Given the description of an element on the screen output the (x, y) to click on. 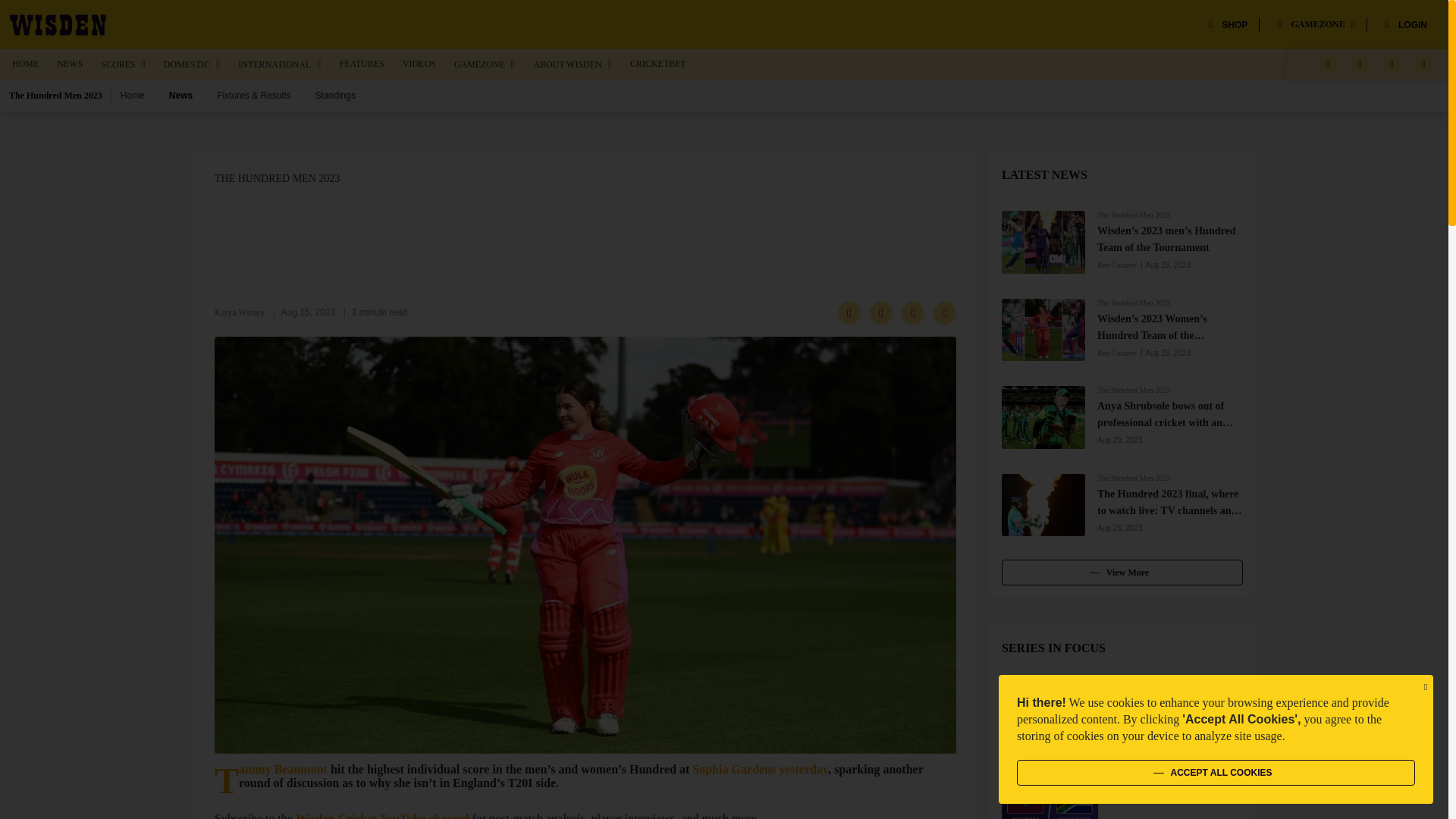
FEATURES (361, 62)
HOME (25, 62)
Login (1406, 24)
CRICKETBET (657, 62)
GAMEZONE (484, 63)
INTERNATIONAL (279, 63)
LOGIN (1406, 24)
Twitter (1359, 64)
Facebook (1327, 64)
Shop (1227, 24)
